Given the description of an element on the screen output the (x, y) to click on. 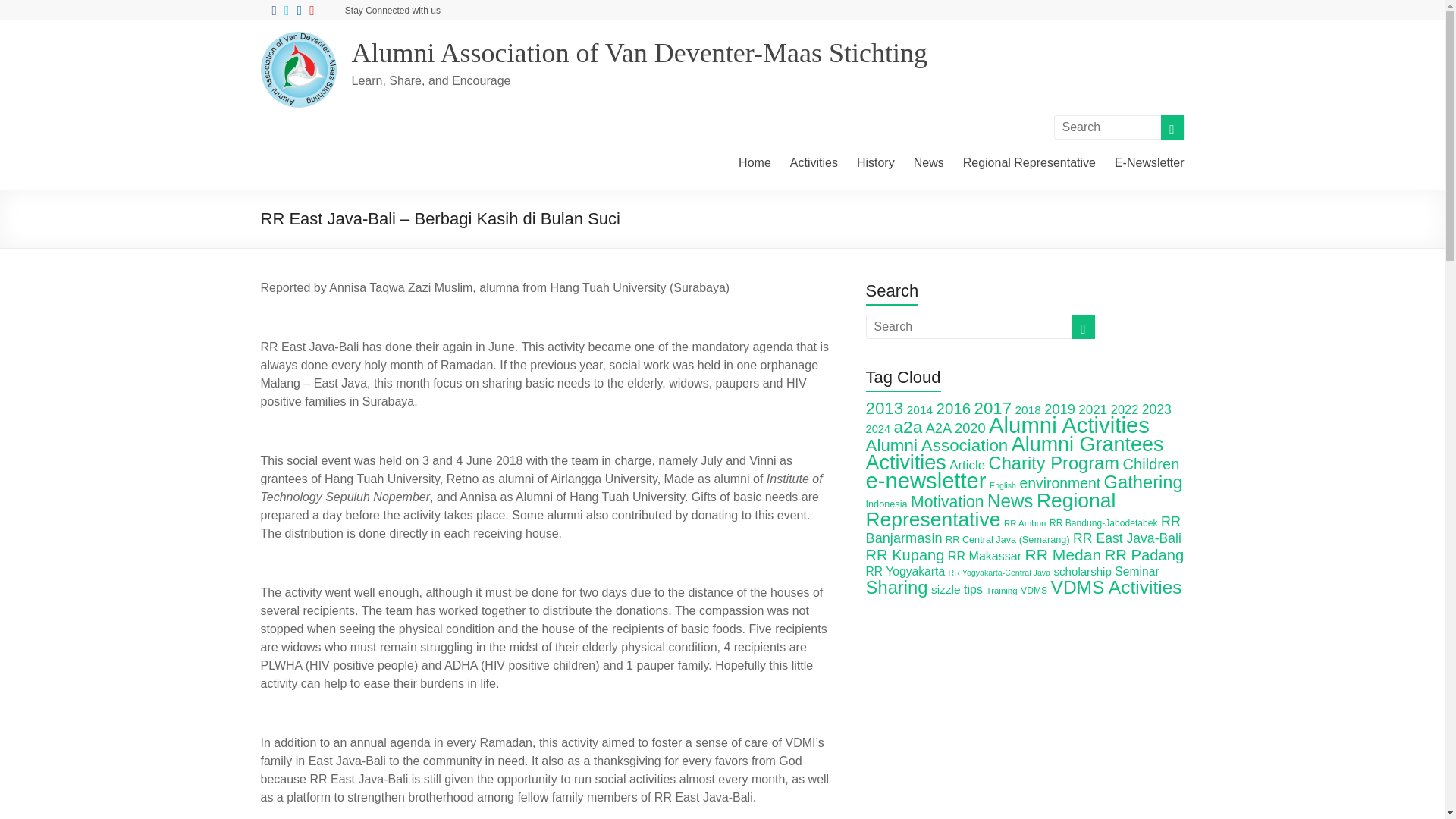
59 topics (907, 426)
E-Newsletter (1150, 160)
Activities (814, 160)
20 topics (1092, 409)
2013 (885, 407)
2016 (953, 407)
39 topics (953, 407)
57 topics (885, 407)
2014 (920, 409)
Alumni Association of Van Deventer-Maas Stichting (640, 52)
